Given the description of an element on the screen output the (x, y) to click on. 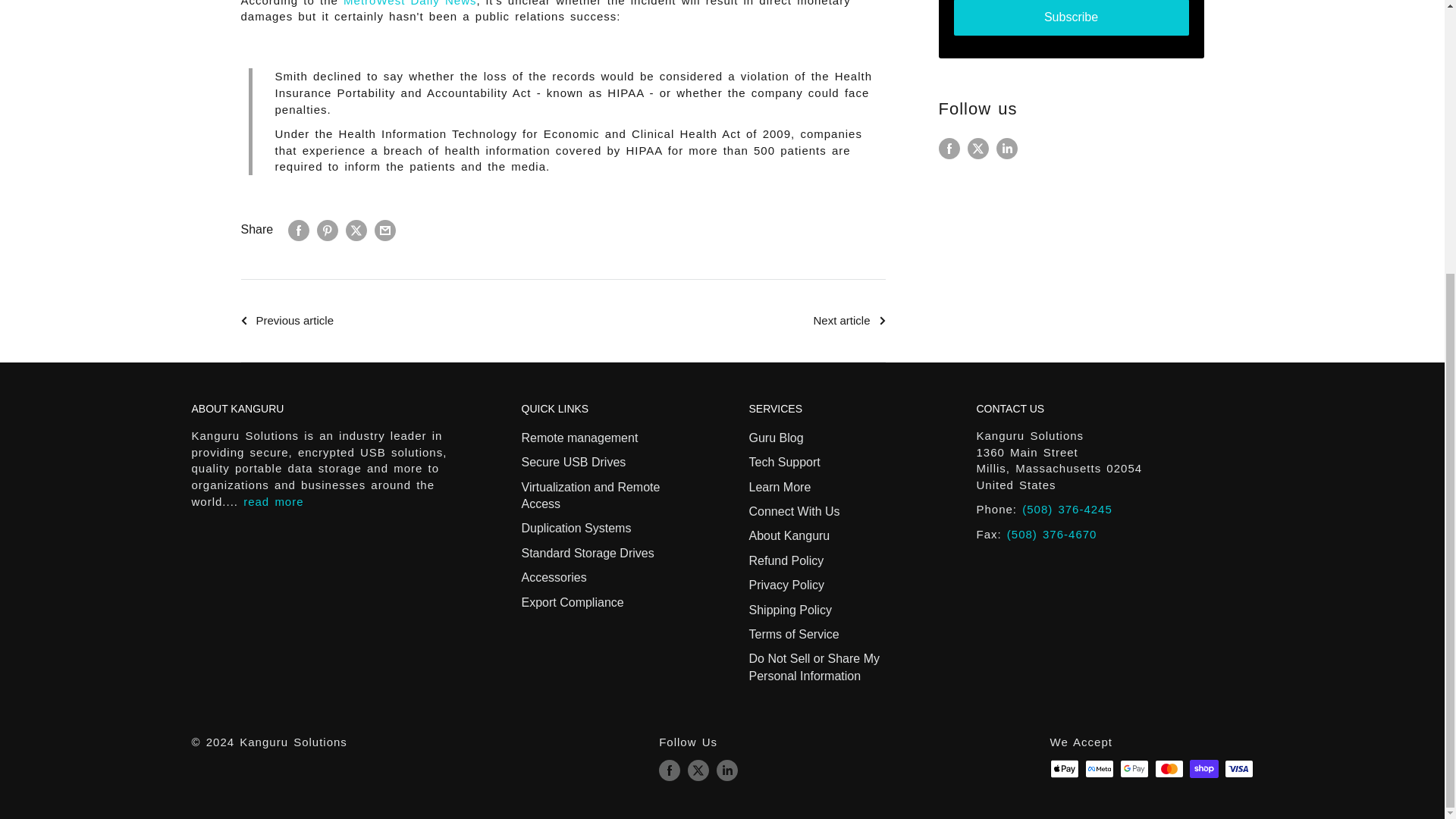
About Us (272, 501)
tel:5083764670 (1052, 533)
tel:5083764245 (1067, 508)
MetroWest Daily (409, 3)
